Given the description of an element on the screen output the (x, y) to click on. 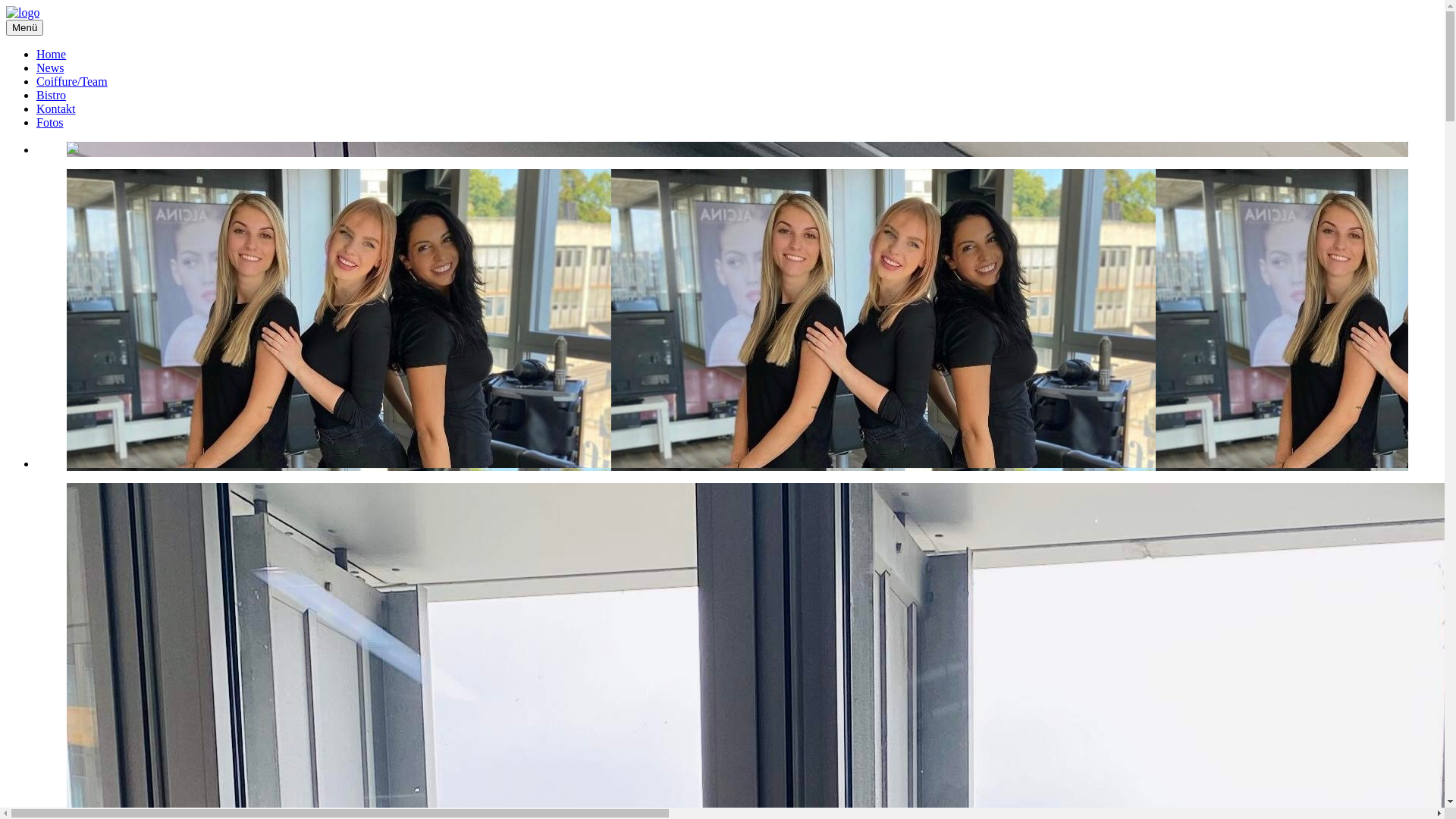
Bistro Element type: text (50, 94)
Home Element type: text (50, 53)
News Element type: text (49, 67)
logo Element type: hover (22, 12)
Fotos Element type: text (49, 122)
Coiffure/Team Element type: text (71, 81)
Kontakt Element type: text (55, 108)
